Given the description of an element on the screen output the (x, y) to click on. 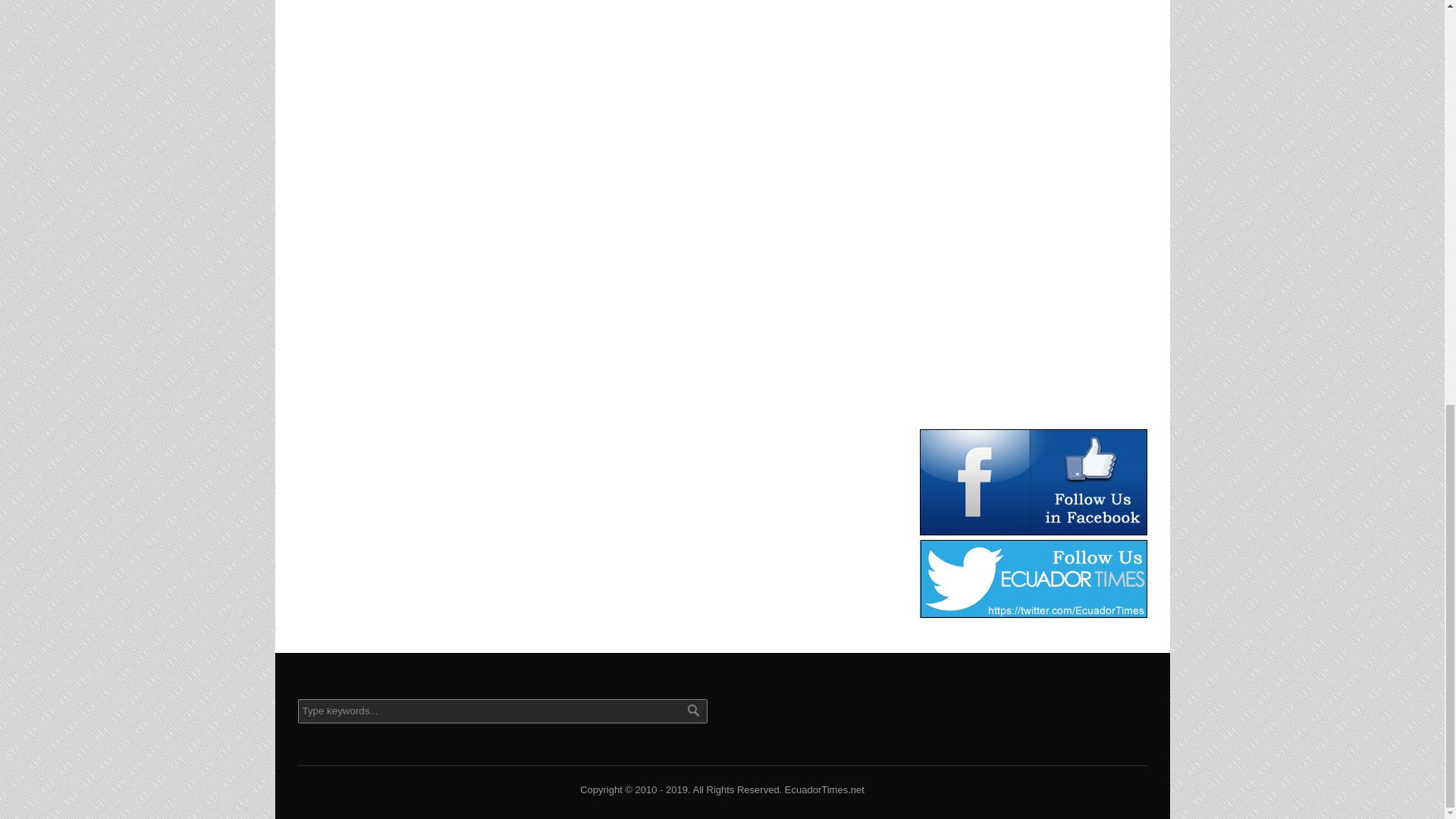
Type keywords... (501, 711)
